Given the description of an element on the screen output the (x, y) to click on. 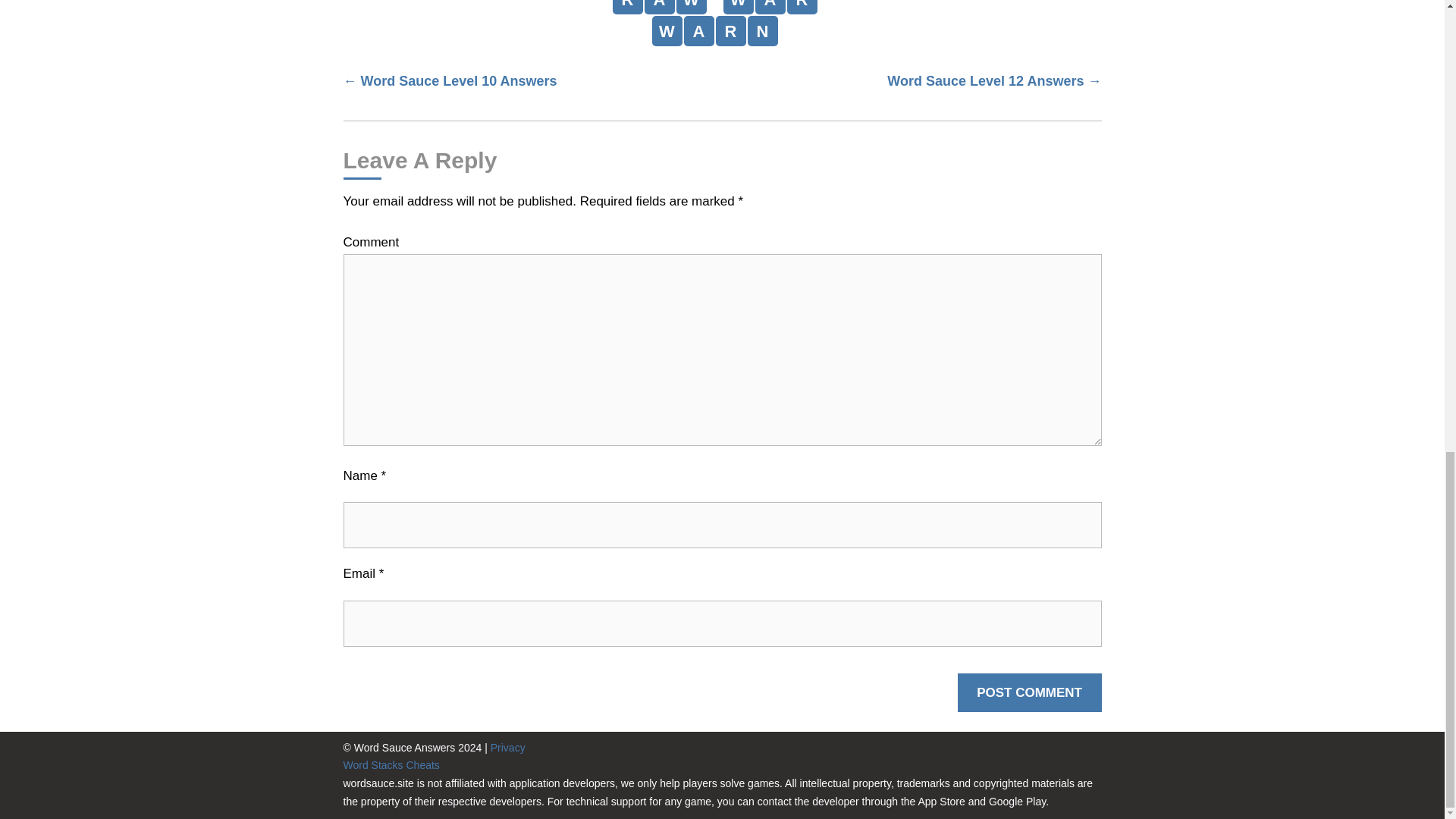
Word Stacks Cheats (390, 765)
Privacy (507, 747)
Word Sauce Level 10 Answers (449, 84)
Word Sauce Level 12 Answers (993, 84)
Post Comment (1030, 692)
Post Comment (1030, 692)
